Given the description of an element on the screen output the (x, y) to click on. 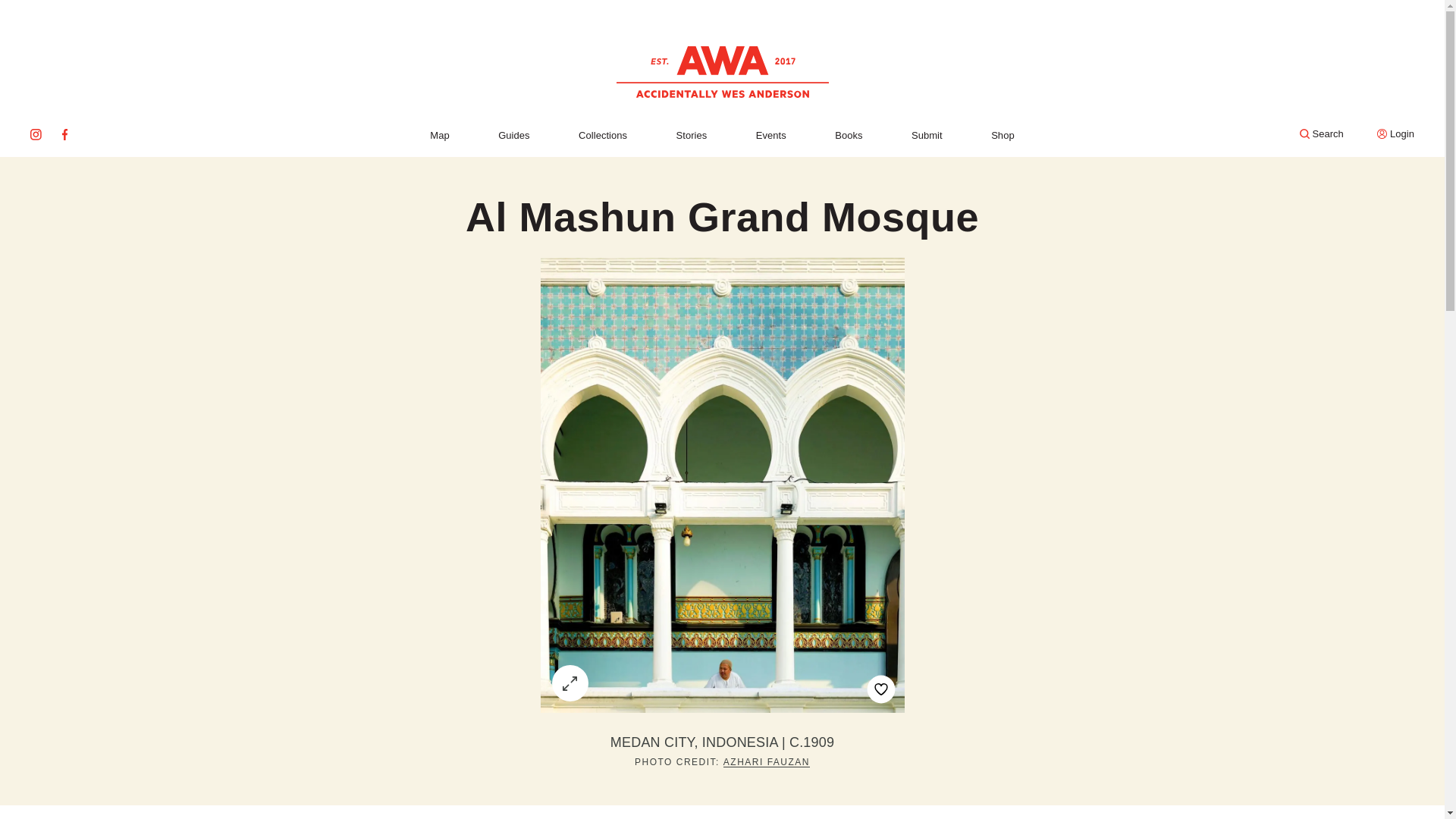
Map (438, 134)
Events (770, 134)
Collections (602, 134)
Guides (513, 134)
Stories (692, 134)
Books (847, 134)
Login (1395, 133)
Shop (1002, 134)
Submit (926, 134)
Search (1321, 133)
